Given the description of an element on the screen output the (x, y) to click on. 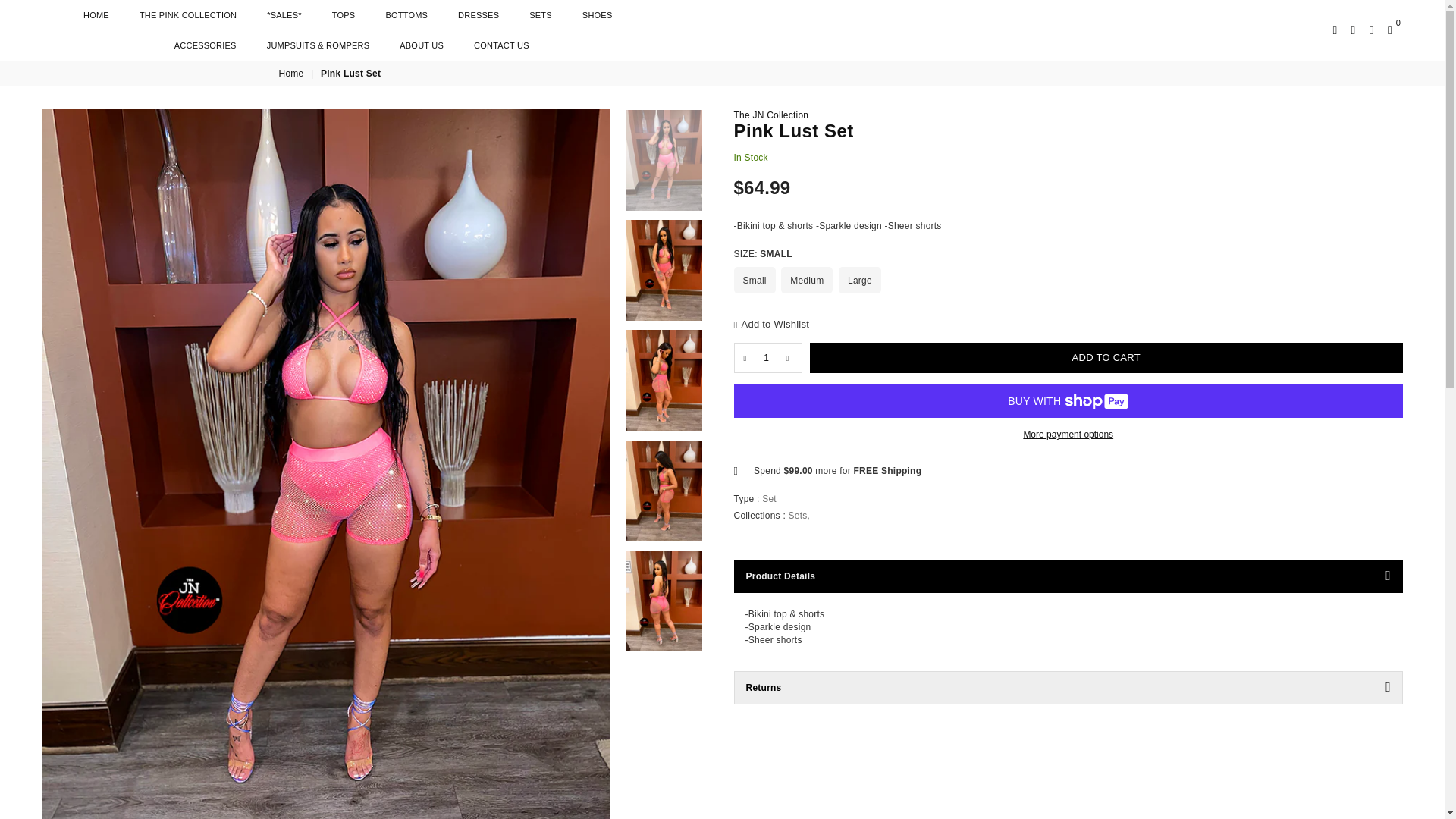
Quantity (767, 358)
ABOUT US (421, 45)
HOME (95, 15)
0 (1389, 29)
SHOES (597, 15)
Back to the home page (292, 73)
DRESSES (478, 15)
THE PINK COLLECTION (187, 15)
1 (765, 357)
ACCESSORIES (205, 45)
SETS (540, 15)
BOTTOMS (406, 15)
The JN Collection (722, 30)
Search (1333, 29)
The JN Collection (771, 114)
